Given the description of an element on the screen output the (x, y) to click on. 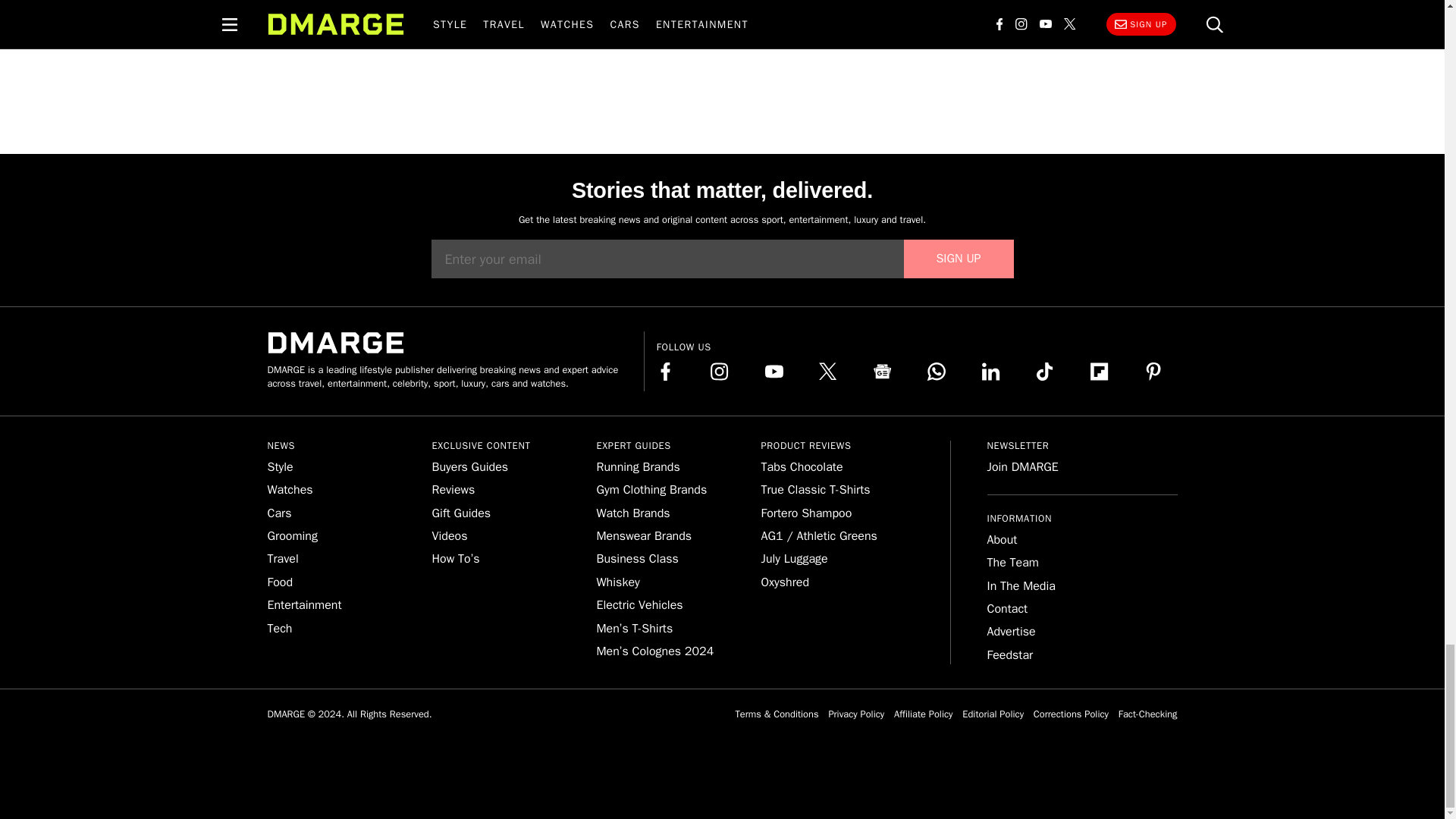
Visit us on YouTube (774, 371)
Visit us on Flipboard (1099, 371)
Visit us on TickTok (1044, 371)
Visit us on Facebook (665, 371)
Visit us on WhatsApp (935, 371)
Visit us on Twitter (827, 371)
Visit us on Instagram (719, 371)
Visit us on Pinterest (1152, 371)
Visit us on Google News (882, 371)
Visit us on LinkedIn (990, 371)
